Given the description of an element on the screen output the (x, y) to click on. 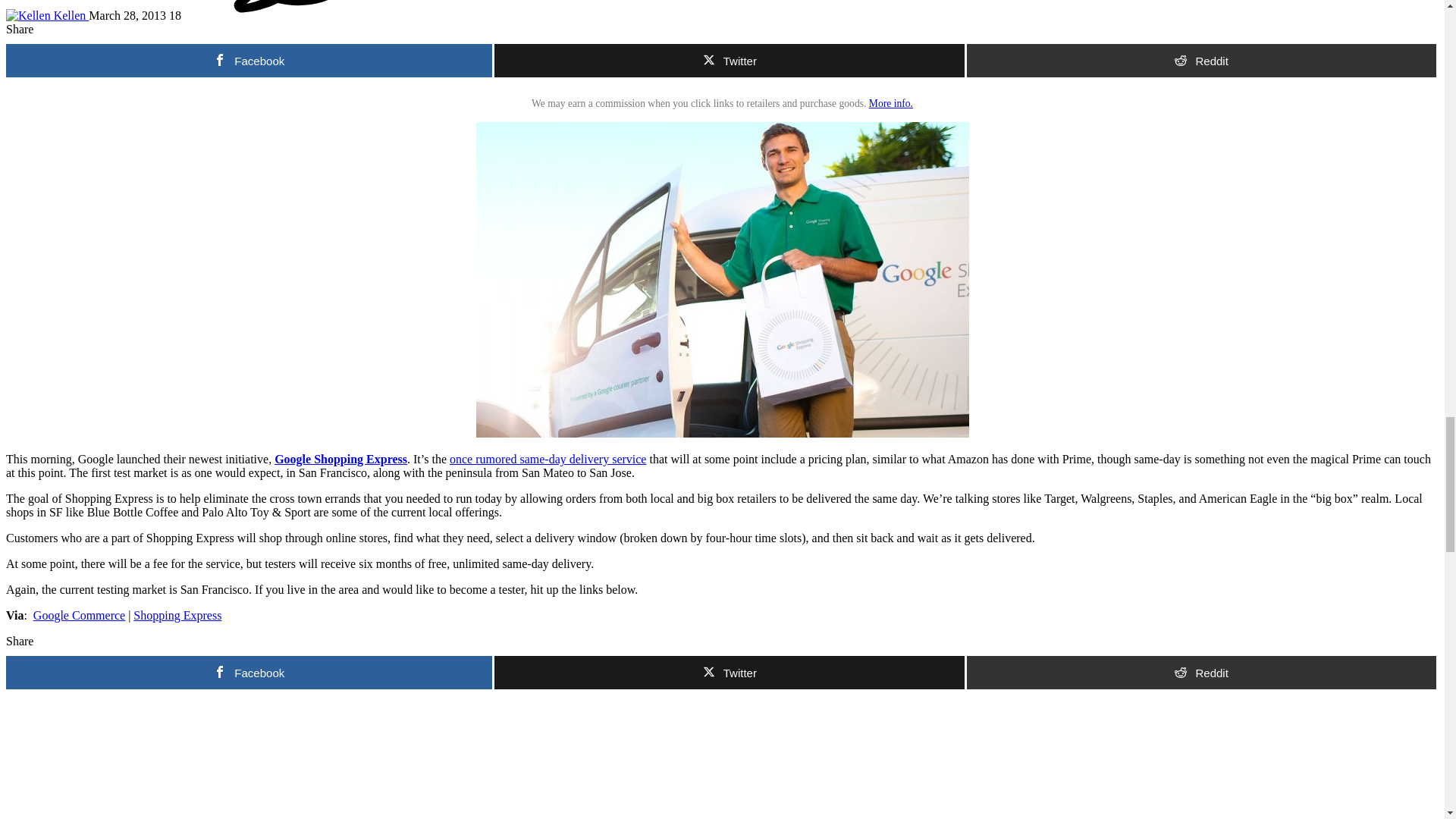
Twitter (729, 60)
Facebook (248, 60)
Kellen (46, 15)
